Given the description of an element on the screen output the (x, y) to click on. 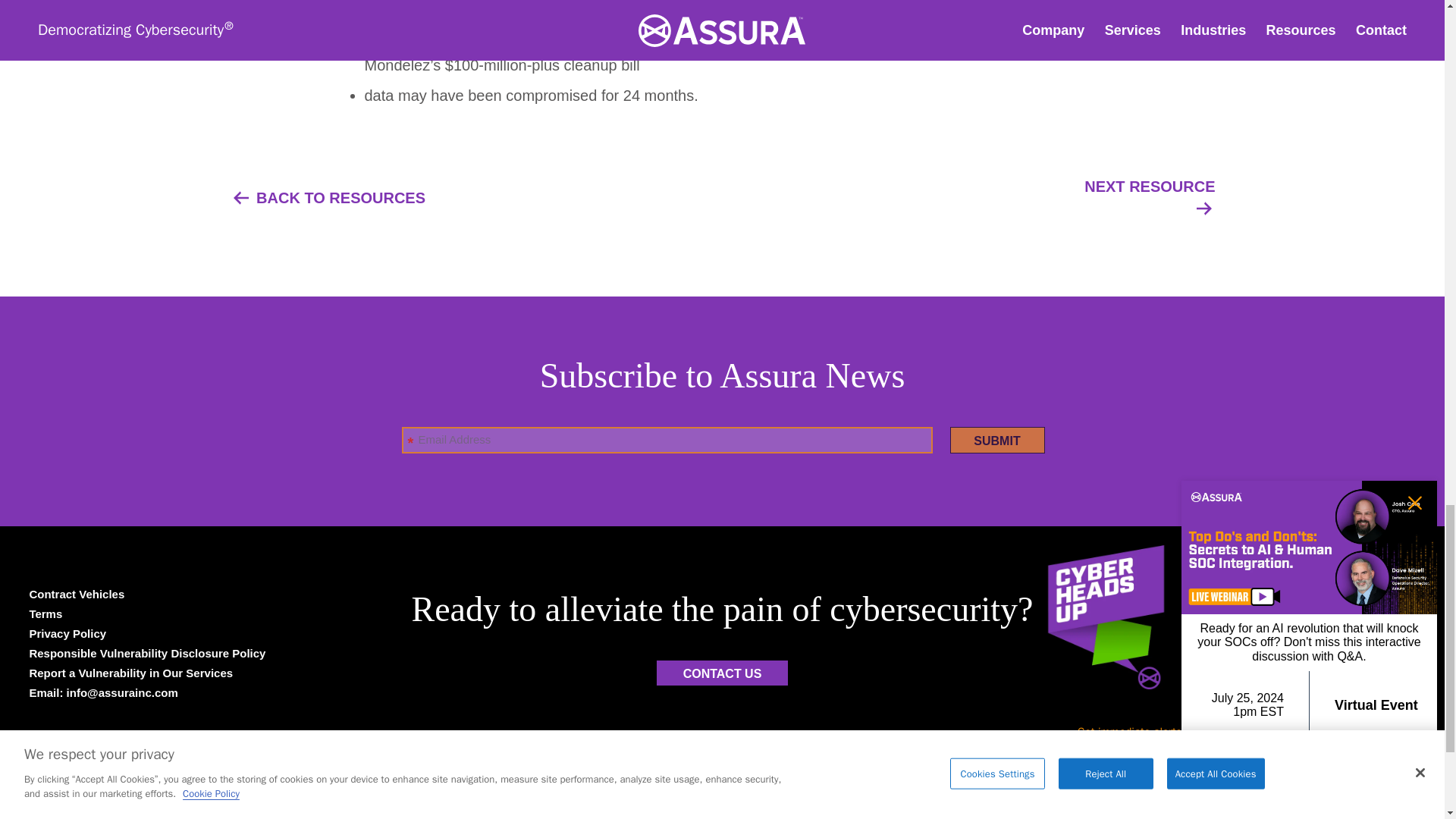
Submit (1262, 672)
Submit (996, 439)
